Given the description of an element on the screen output the (x, y) to click on. 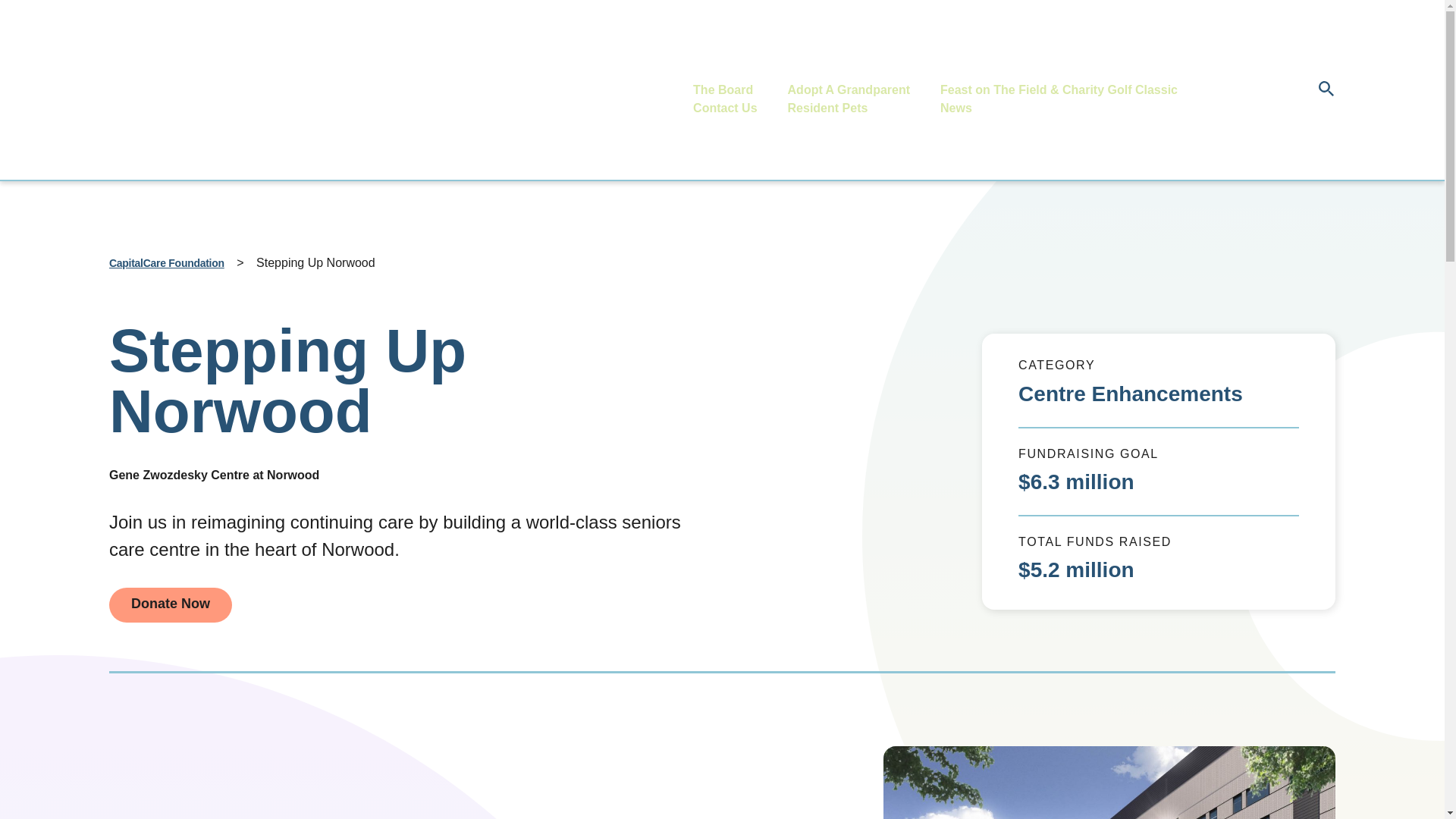
Go to CapitalCare Foundation. (166, 263)
News (956, 107)
Contact Us (725, 107)
Adopt A Grandparent (848, 89)
Resident Pets (827, 107)
Donate Now (170, 605)
Our Purpose (822, 70)
Get Involved (974, 70)
About Us (717, 70)
The Board (722, 89)
CapitalCare Foundation (166, 263)
Home (646, 89)
